Given the description of an element on the screen output the (x, y) to click on. 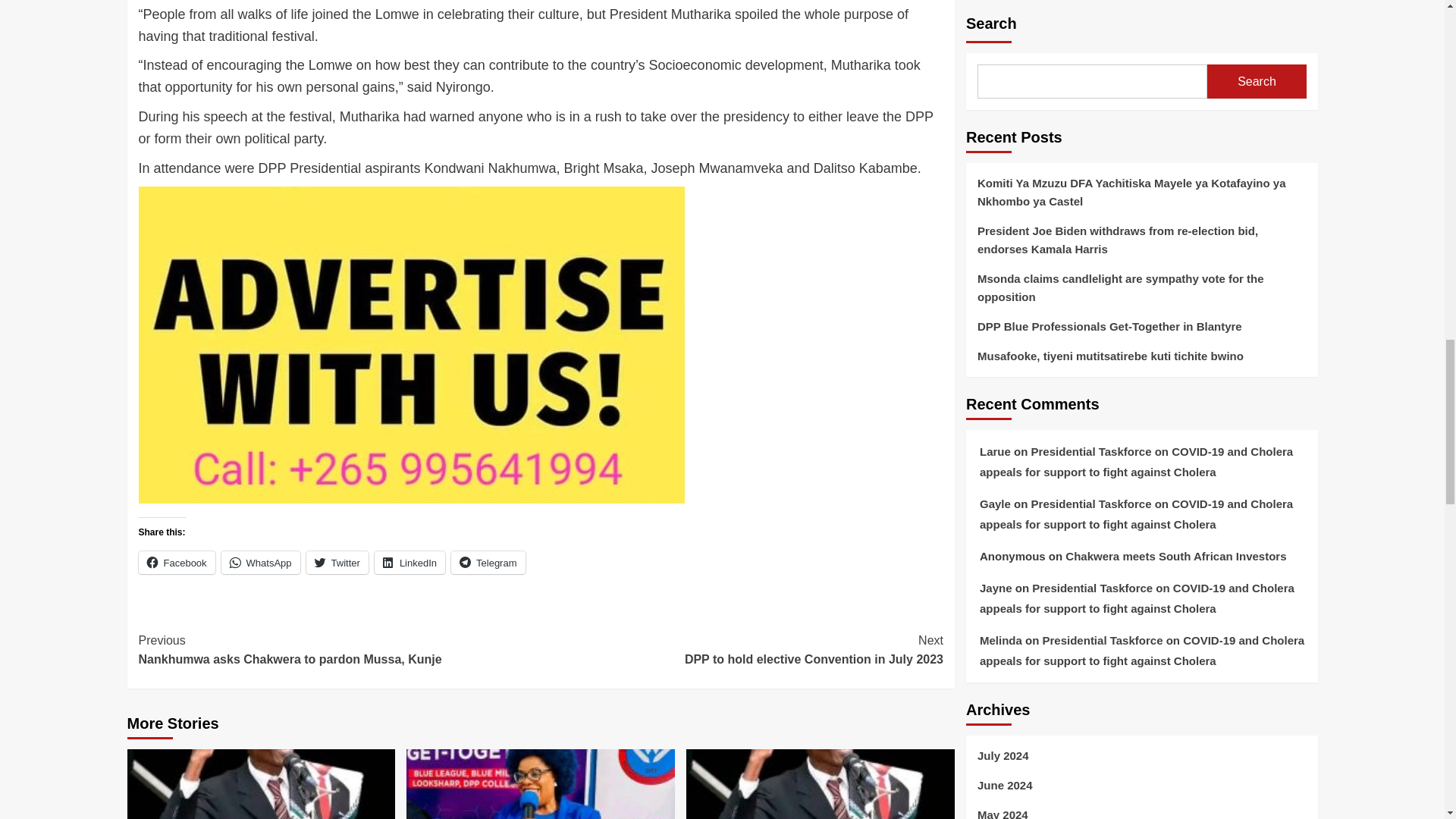
Twitter (339, 649)
WhatsApp (336, 562)
Click to share on WhatsApp (260, 562)
Click to share on Telegram (260, 562)
LinkedIn (487, 562)
Click to share on LinkedIn (409, 562)
Telegram (409, 562)
Facebook (487, 562)
Click to share on Facebook (176, 562)
Click to share on Twitter (176, 562)
